Given the description of an element on the screen output the (x, y) to click on. 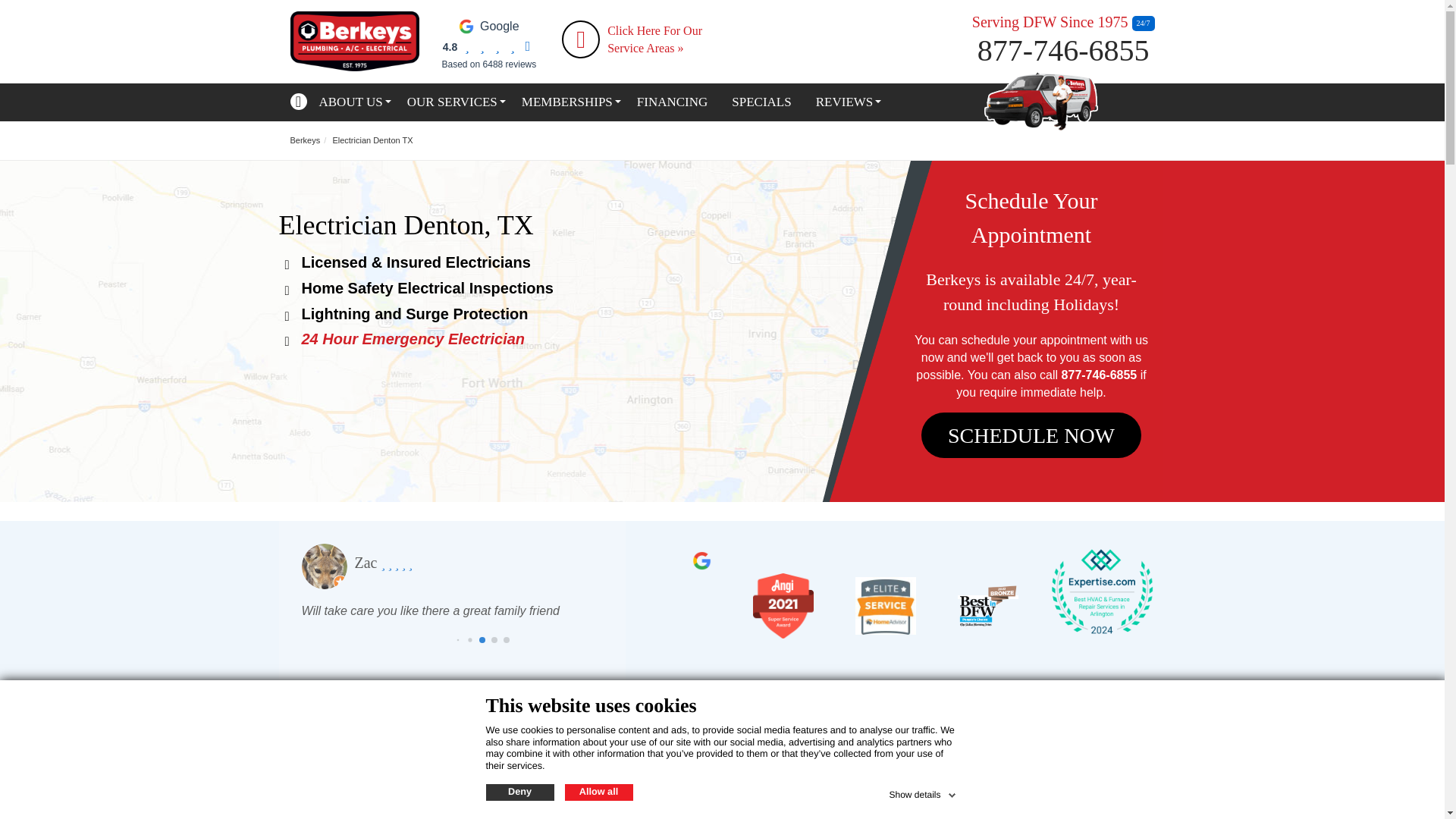
Allow all (597, 791)
Show details (923, 791)
Deny (518, 791)
